Given the description of an element on the screen output the (x, y) to click on. 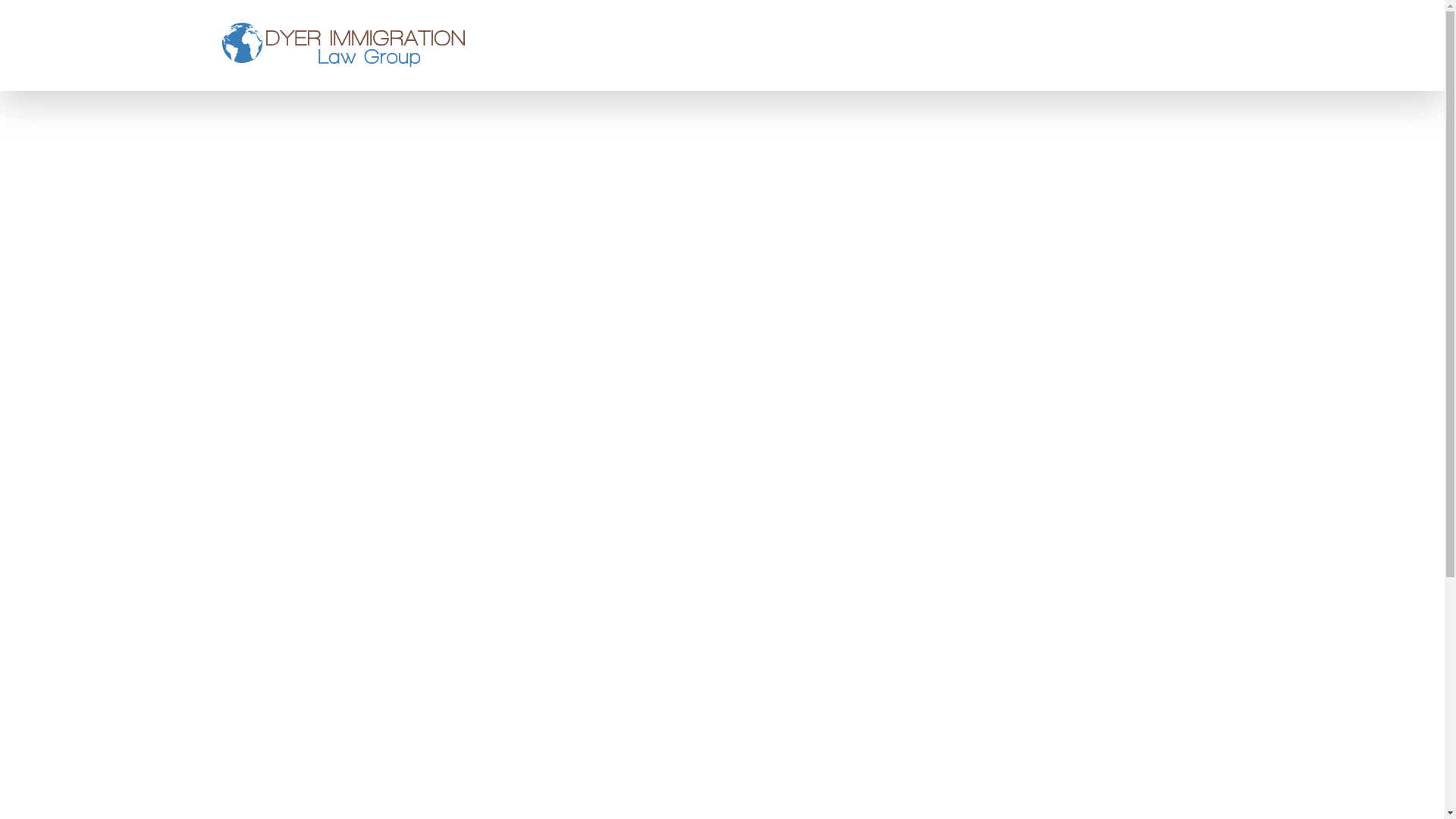
Dyer Immigration Law Group (342, 44)
Dyer Immigration Law Group (342, 44)
